Given the description of an element on the screen output the (x, y) to click on. 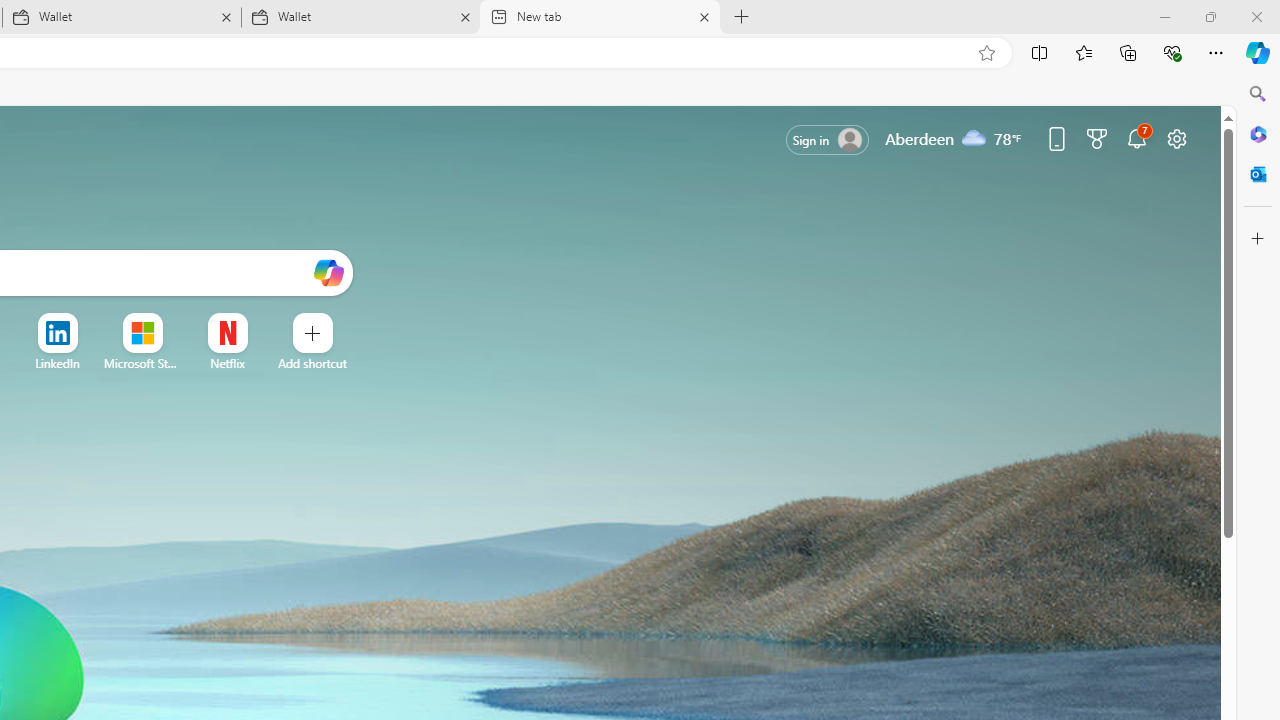
Add a site (311, 363)
Click to sign into Microsoft Edge (827, 139)
Microsoft 365 (1258, 133)
Netflix (226, 363)
Open Copilot (328, 273)
LinkedIn (56, 363)
Cloudy (974, 137)
